Given the description of an element on the screen output the (x, y) to click on. 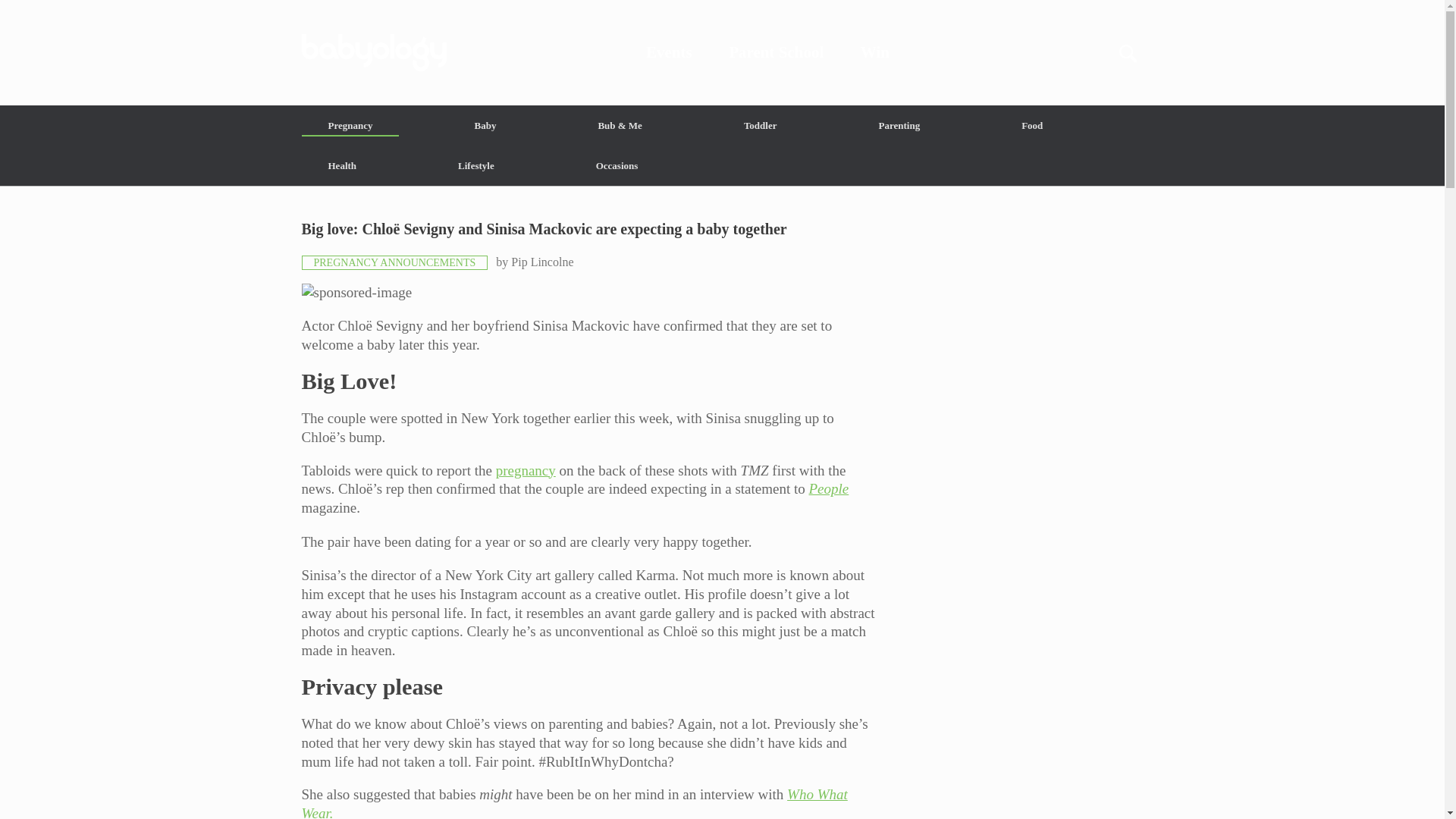
PREGNANCY ANNOUNCEMENTS (394, 262)
Win (874, 52)
Who What Wear. (574, 802)
Pregnancy (349, 125)
Occasions (617, 165)
Babyology (721, 52)
Toddler (760, 125)
Food (1031, 125)
Lifestyle (475, 165)
Parenting (898, 125)
Baby (484, 125)
Pip Lincolne (542, 261)
Health (342, 165)
View all posts by Pip Lincolne (542, 261)
Parent School (776, 52)
